Given the description of an element on the screen output the (x, y) to click on. 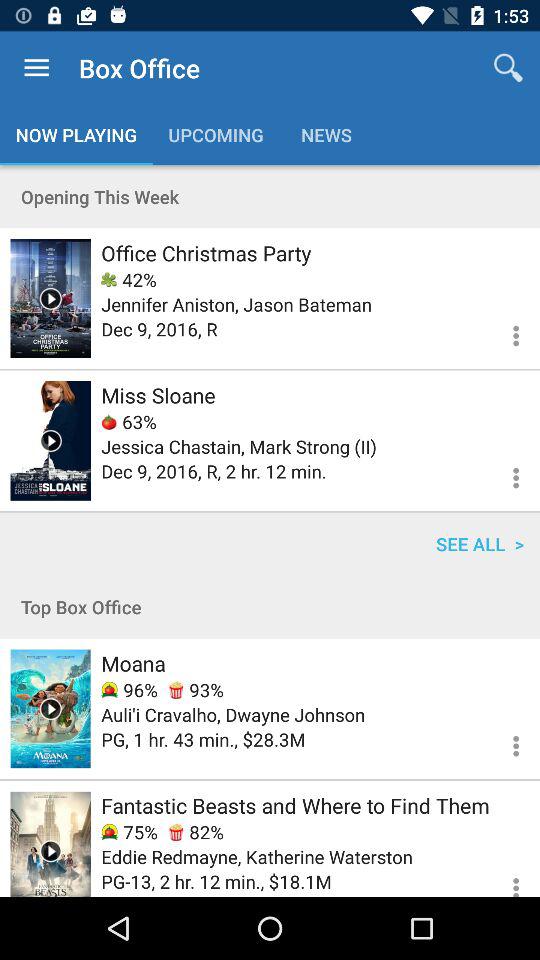
open more functions (503, 743)
